Given the description of an element on the screen output the (x, y) to click on. 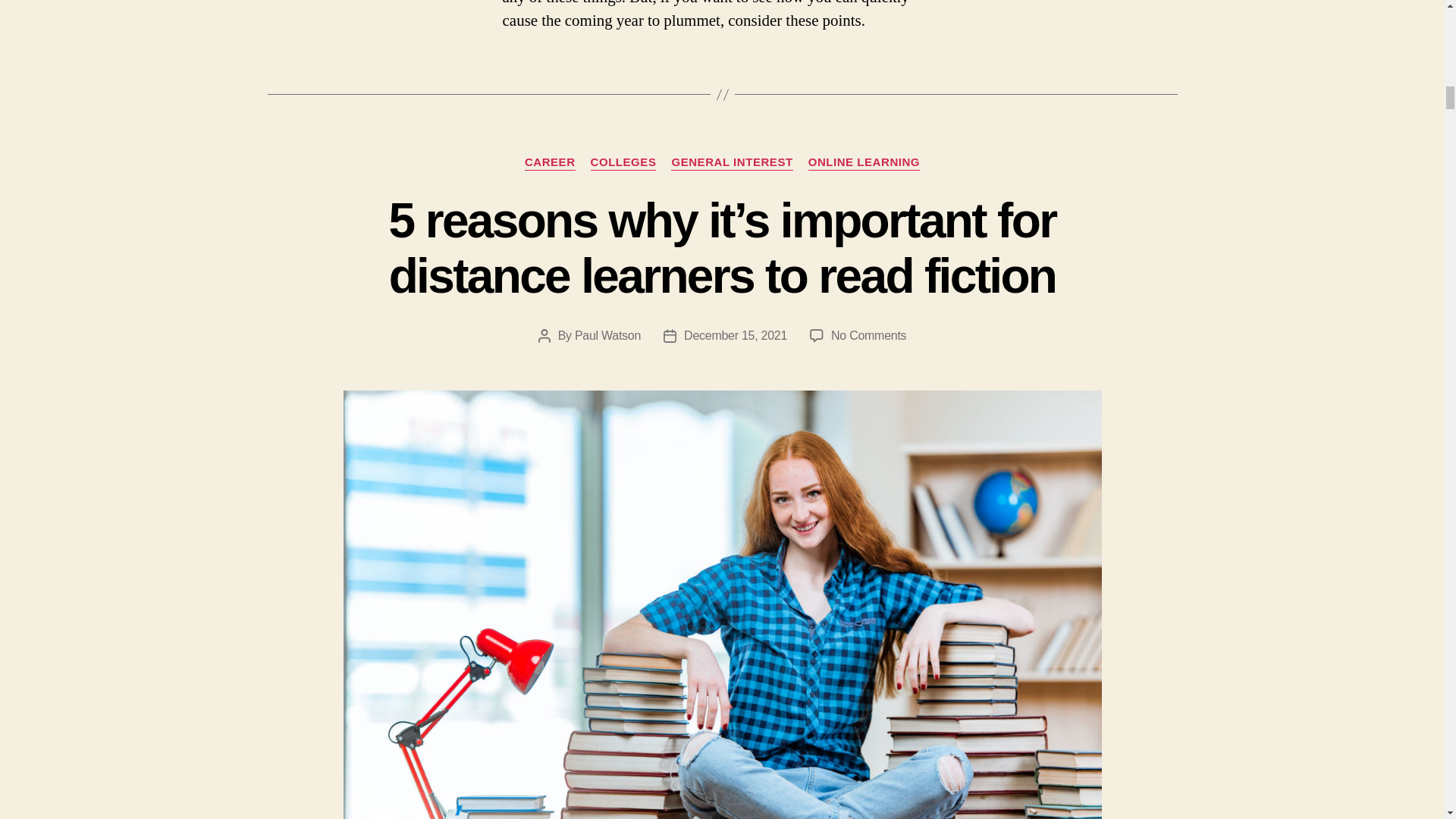
GENERAL INTEREST (731, 162)
ONLINE LEARNING (864, 162)
CAREER (549, 162)
COLLEGES (623, 162)
Paul Watson (607, 335)
December 15, 2021 (735, 335)
